Given the description of an element on the screen output the (x, y) to click on. 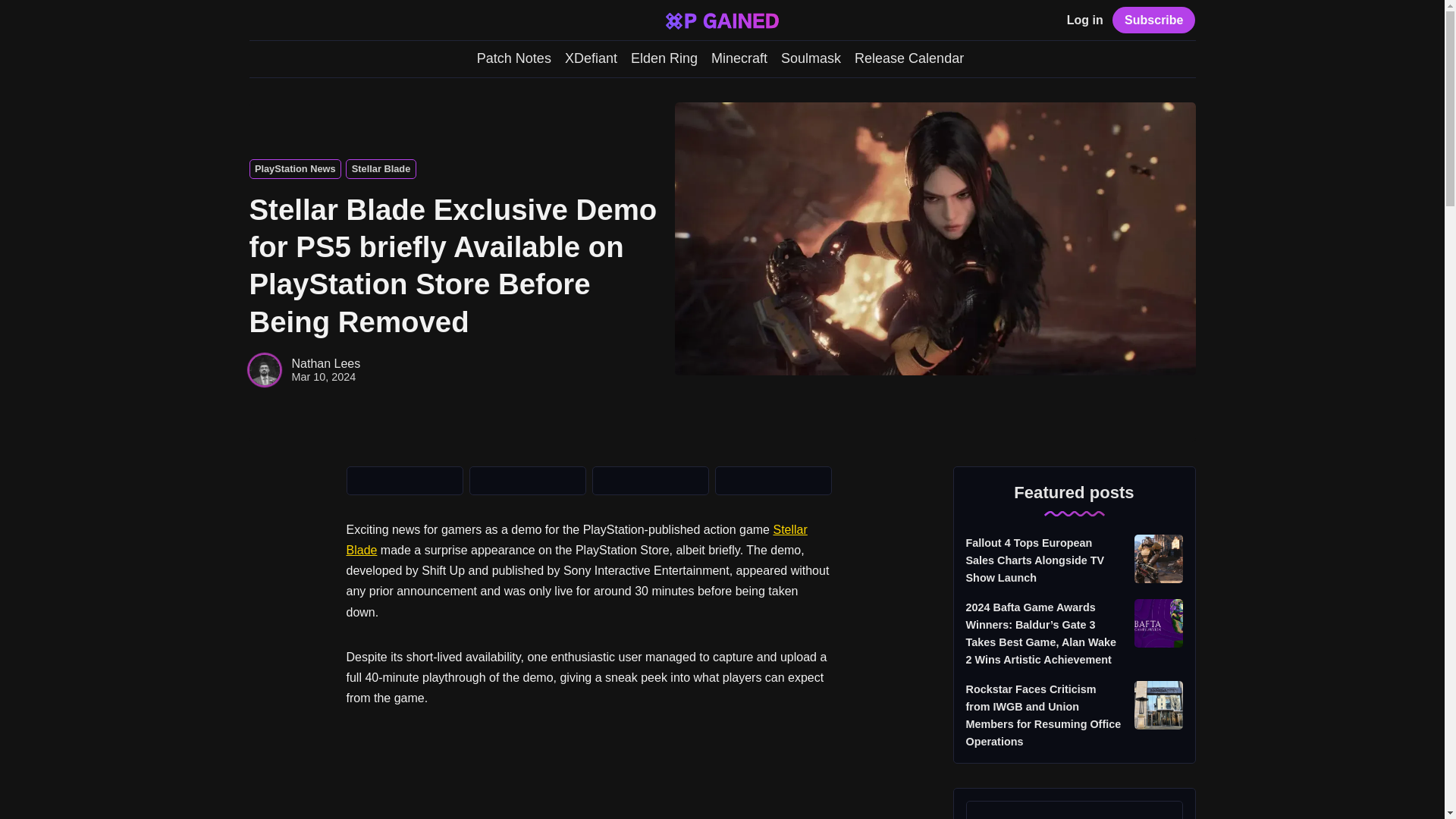
Copy to clipboard (772, 480)
Stellar Blade (380, 168)
XDefiant (590, 58)
YouTube video player (588, 775)
PlayStation News (294, 168)
Search (255, 20)
Minecraft (739, 58)
Log in (1085, 19)
Share by email (649, 480)
Nathan Lees (325, 363)
Soulmask (810, 58)
Elden Ring (663, 58)
PlayStation News (294, 168)
Subscribe (1153, 19)
Share on Twitter (404, 480)
